Given the description of an element on the screen output the (x, y) to click on. 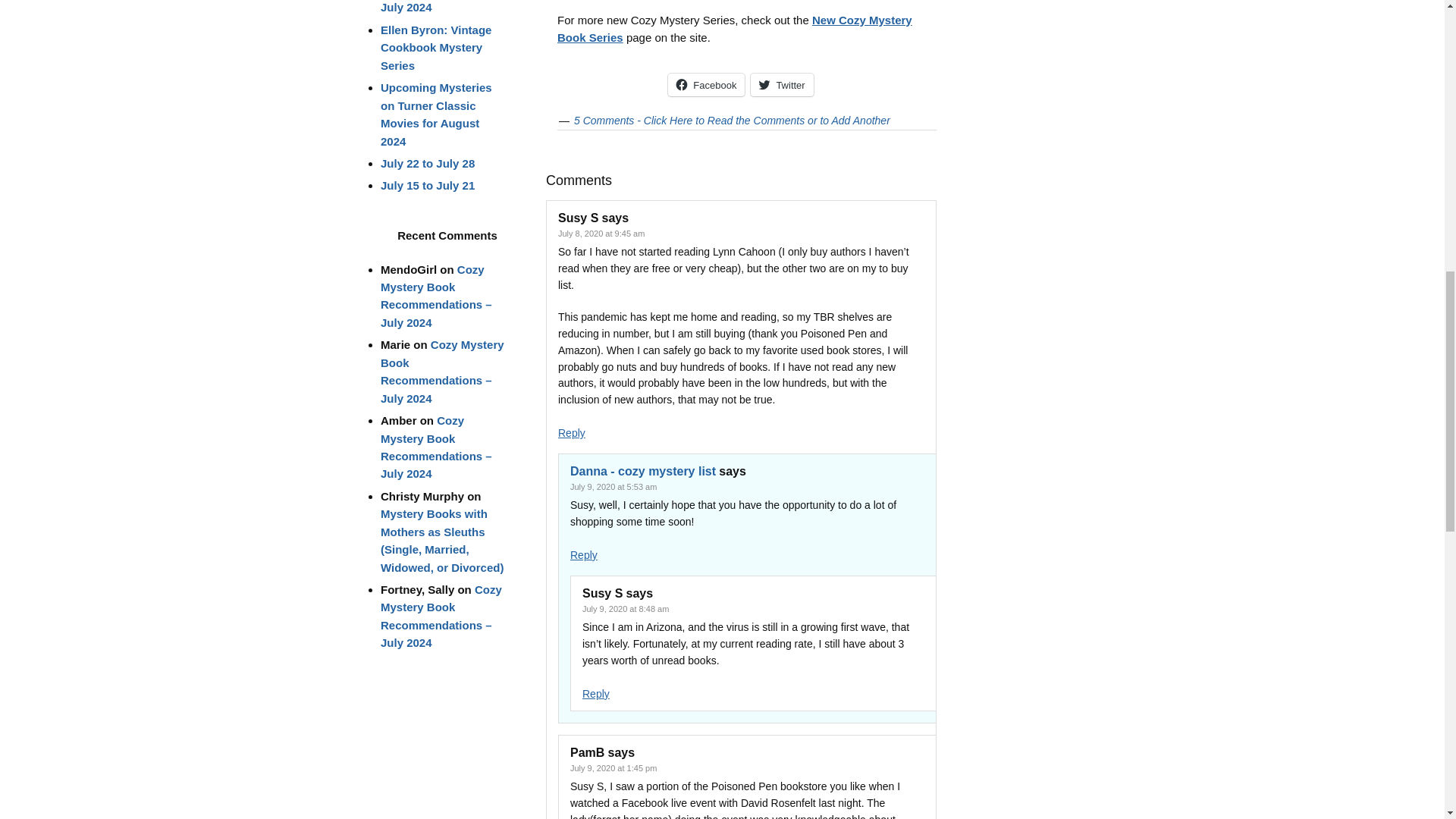
Click to share on Twitter (781, 84)
Reply (583, 554)
New Cozy Mystery Book Series (734, 28)
Click to share on Facebook (706, 84)
Reply (596, 693)
Danna - cozy mystery list (643, 471)
Reply (571, 432)
Twitter (781, 84)
July 9, 2020 at 5:53 am (613, 486)
July 9, 2020 at 1:45 pm (613, 768)
Facebook (706, 84)
July 9, 2020 at 8:48 am (625, 608)
July 8, 2020 at 9:45 am (601, 233)
